Given the description of an element on the screen output the (x, y) to click on. 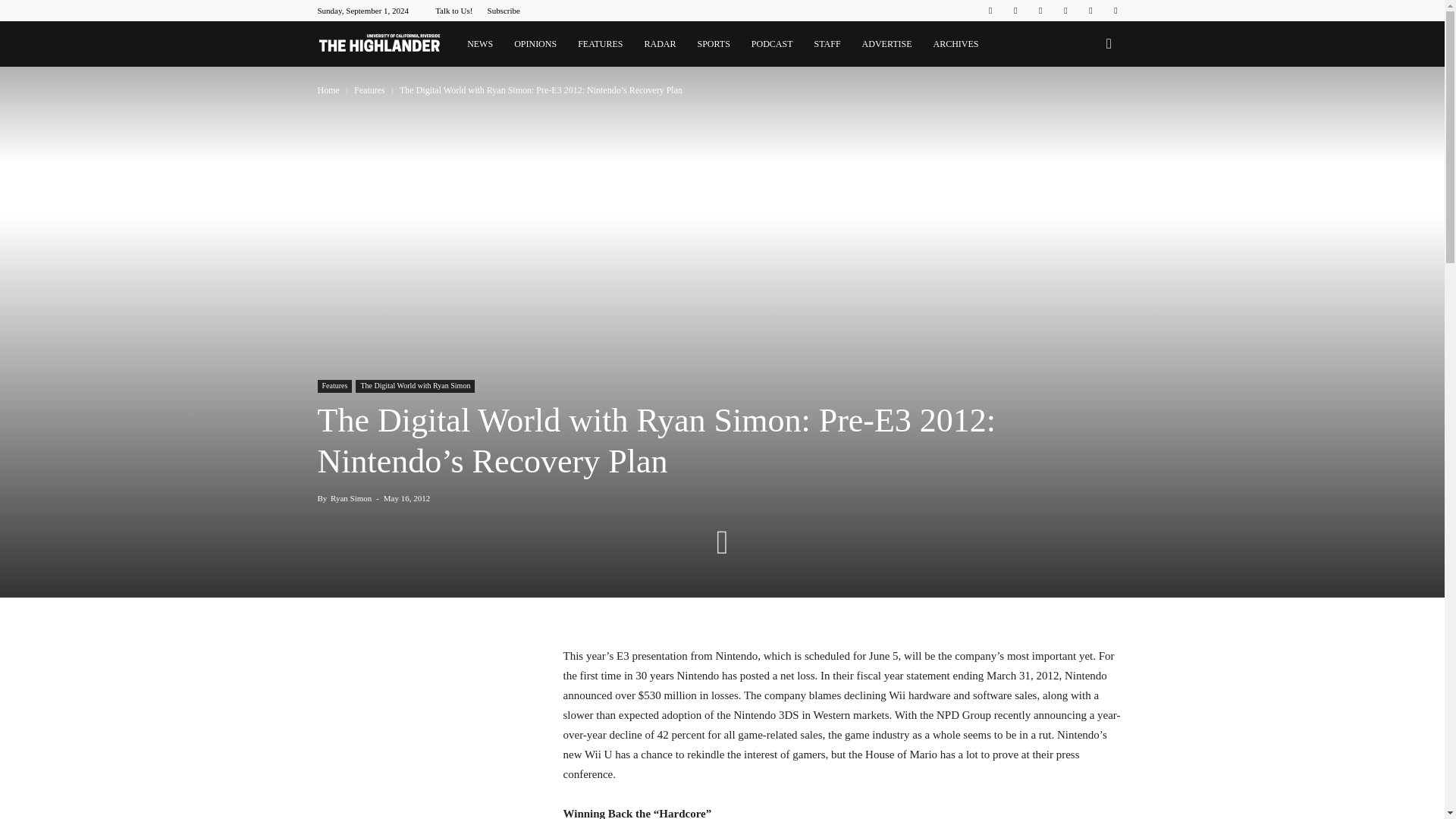
Instagram (1015, 10)
Youtube (1114, 10)
Spotify (1065, 10)
Twitter (1090, 10)
View all posts in Features (370, 90)
Linkedin (1040, 10)
Talk to Us! (453, 10)
Facebook (989, 10)
